Given the description of an element on the screen output the (x, y) to click on. 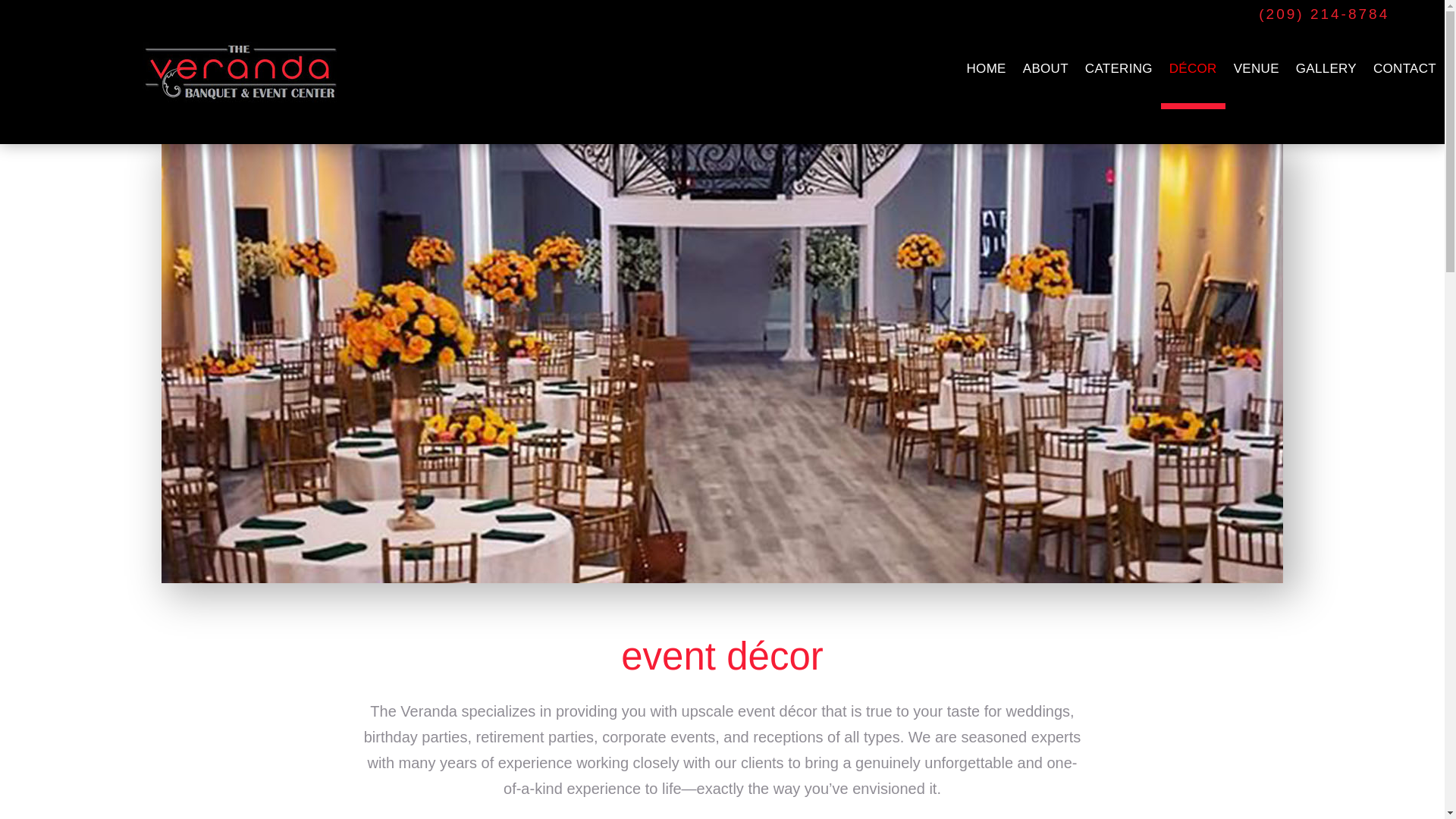
CATERING (1118, 68)
BLOG (1045, 138)
TESTIMONIALS (1045, 163)
INDIAN WEDDINGS (1192, 188)
GALLERY (1326, 68)
